Given the description of an element on the screen output the (x, y) to click on. 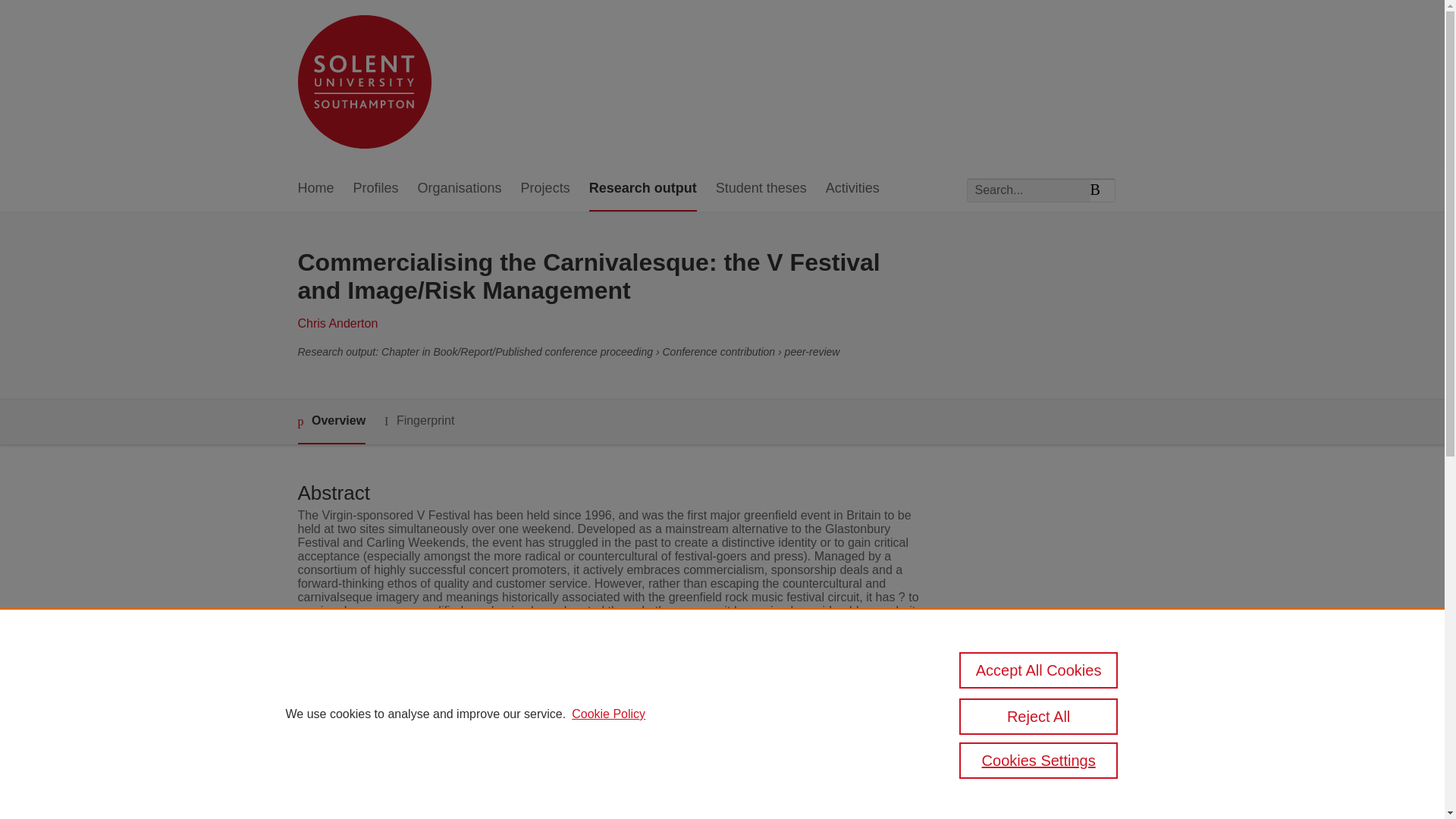
Accept All Cookies (1038, 669)
Organisations (459, 189)
Overview (331, 421)
Solent University Home (363, 83)
Student theses (761, 189)
Chris Anderton (337, 323)
Research output (643, 189)
Cookie Policy (608, 713)
Reject All (1038, 716)
